Given the description of an element on the screen output the (x, y) to click on. 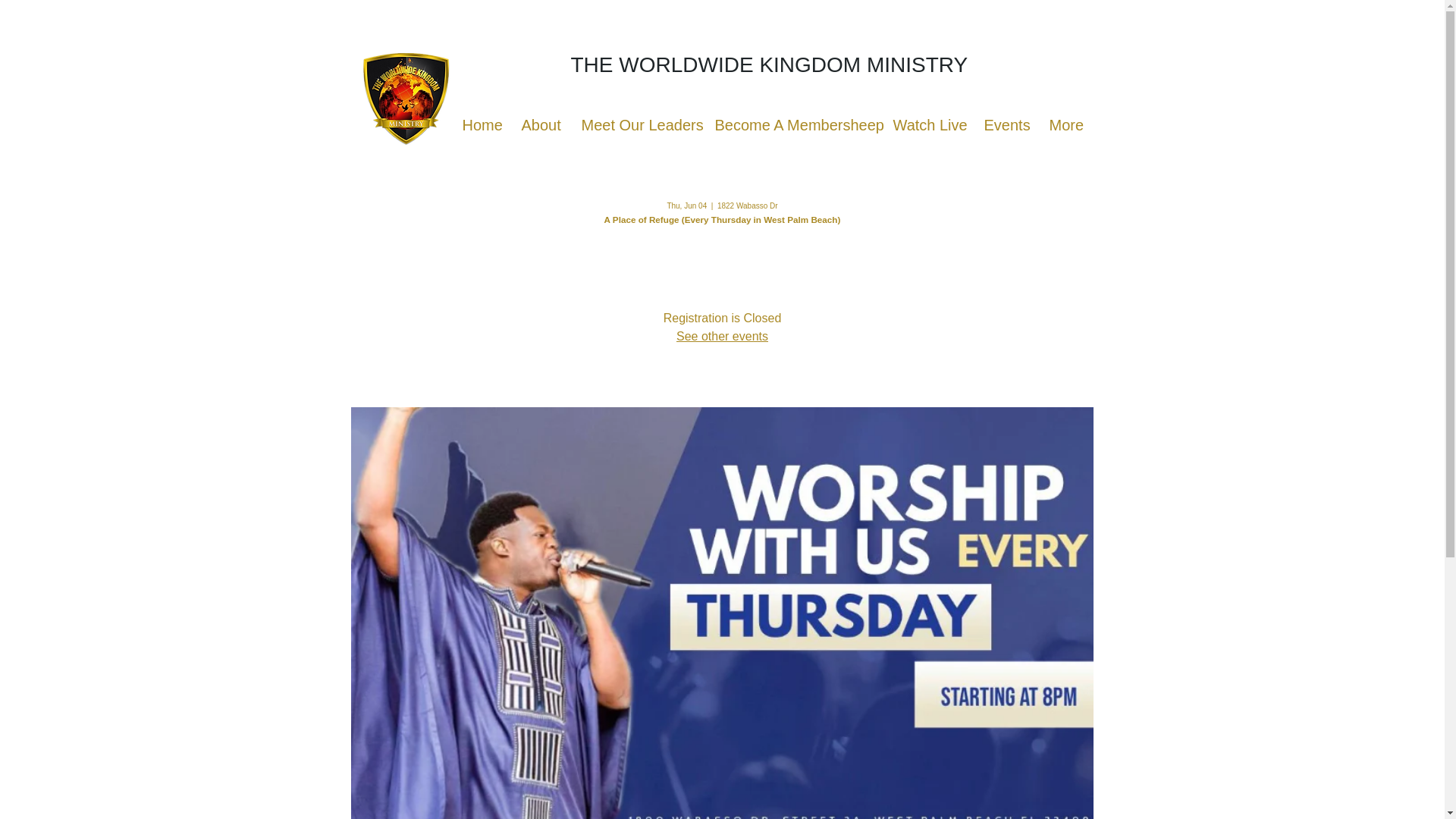
About (539, 125)
Meet Our Leaders (636, 125)
Events (1004, 125)
Watch Live (926, 125)
Home (479, 125)
See other events (722, 336)
Become A Membersheep (792, 125)
